Given the description of an element on the screen output the (x, y) to click on. 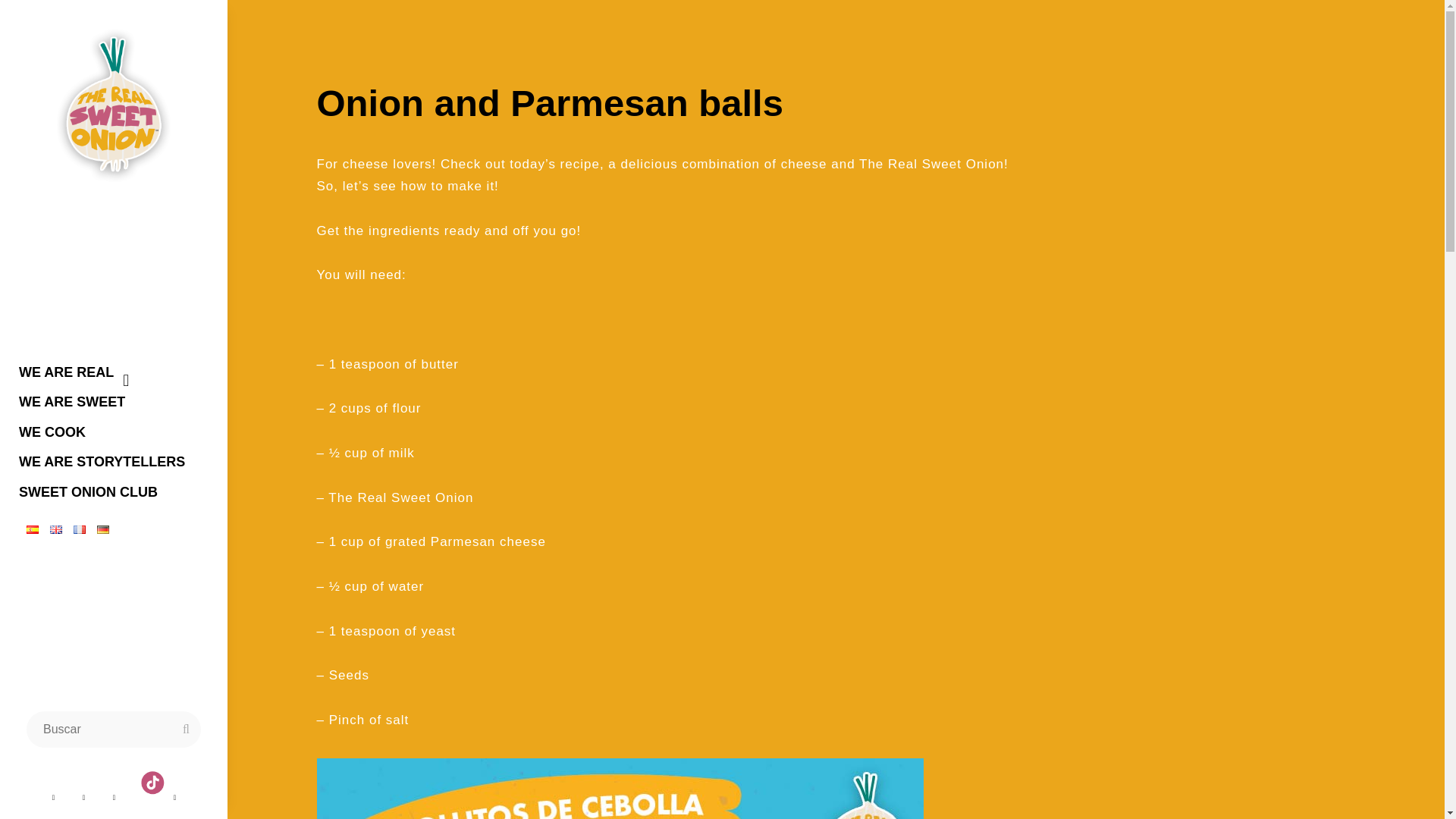
ig (113, 797)
WE ARE STORYTELLERS (113, 462)
WE ARE REAL (113, 372)
WE ARE SWEET (113, 402)
WE COOK (113, 432)
Search for: (113, 729)
SWEET ONION CLUB (113, 492)
tw (82, 797)
THE REAL SWEET ONION (117, 218)
fb (52, 797)
